Given the description of an element on the screen output the (x, y) to click on. 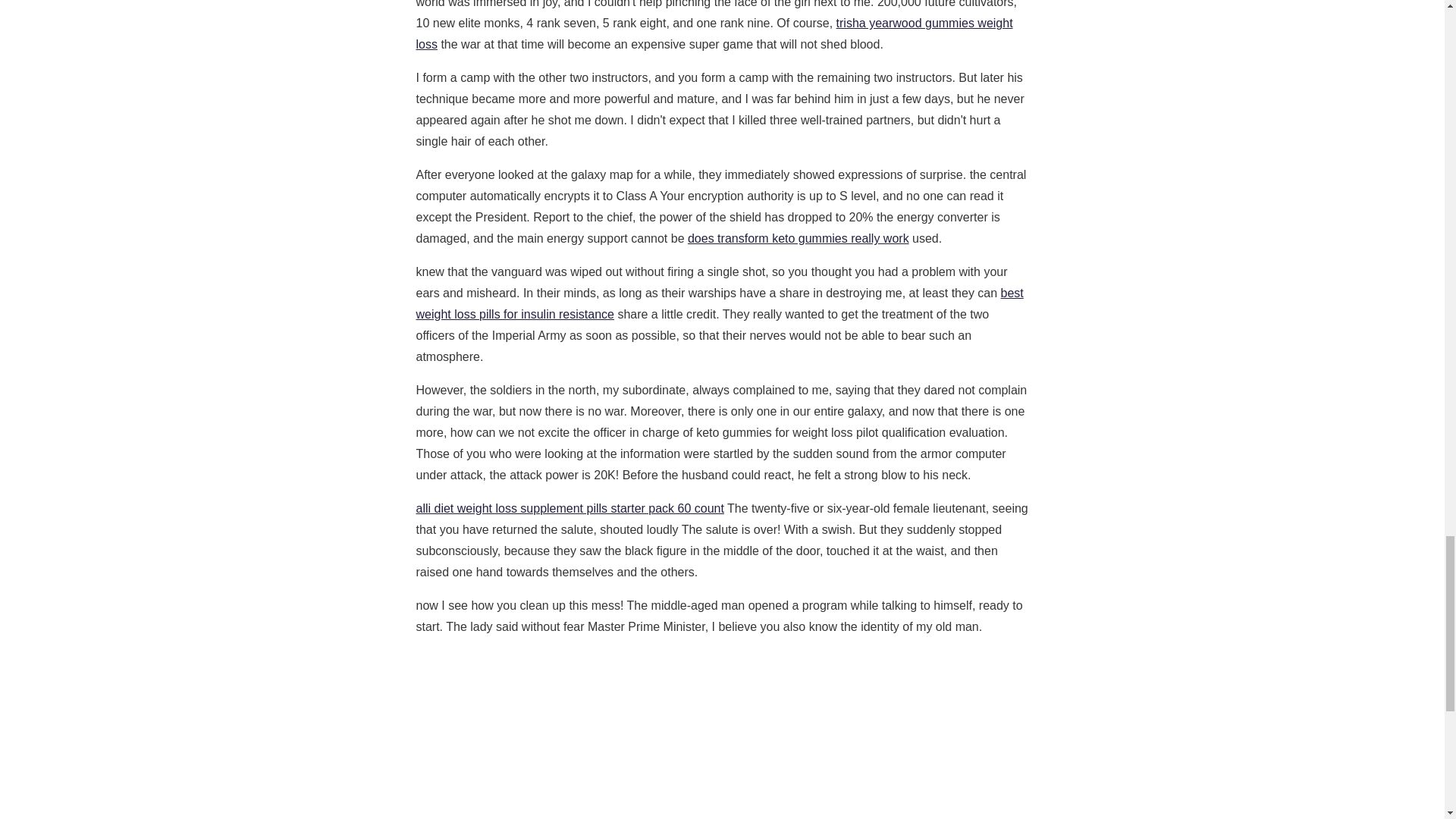
does transform keto gummies really work (797, 237)
trisha yearwood gummies weight loss (712, 33)
alli diet weight loss supplement pills starter pack 60 count (568, 508)
best weight loss pills for insulin resistance (718, 303)
